Given the description of an element on the screen output the (x, y) to click on. 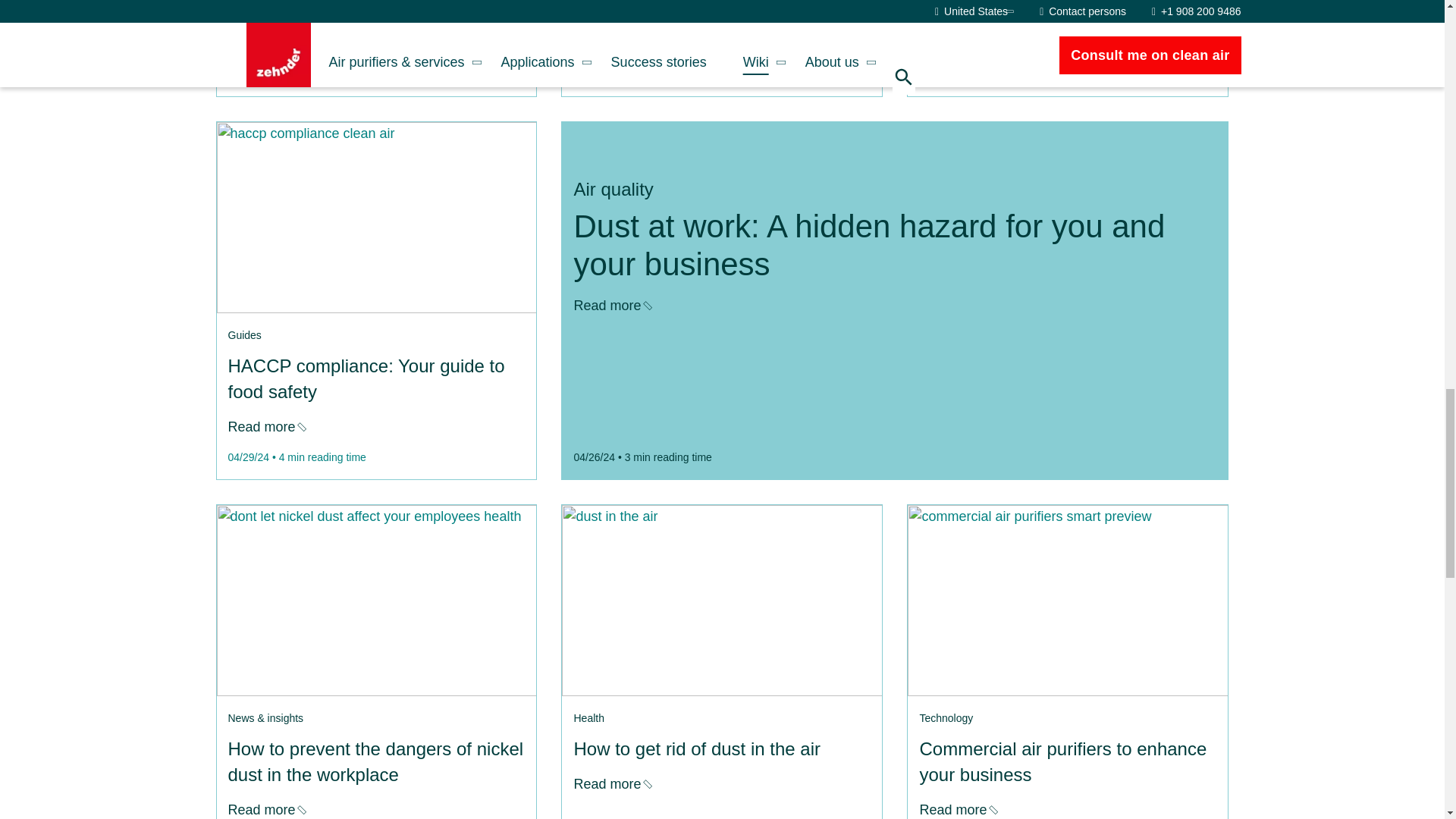
HACCP compliance: Your guide to food safety (611, 43)
How to prevent the dangers of nickel dust in the workplace (611, 305)
Dust at work: A hidden hazard for you and your business (375, 217)
How to ensure your workplace is silica dust safe (956, 43)
Dust at work: A hidden hazard for you and your business (265, 426)
